Given the description of an element on the screen output the (x, y) to click on. 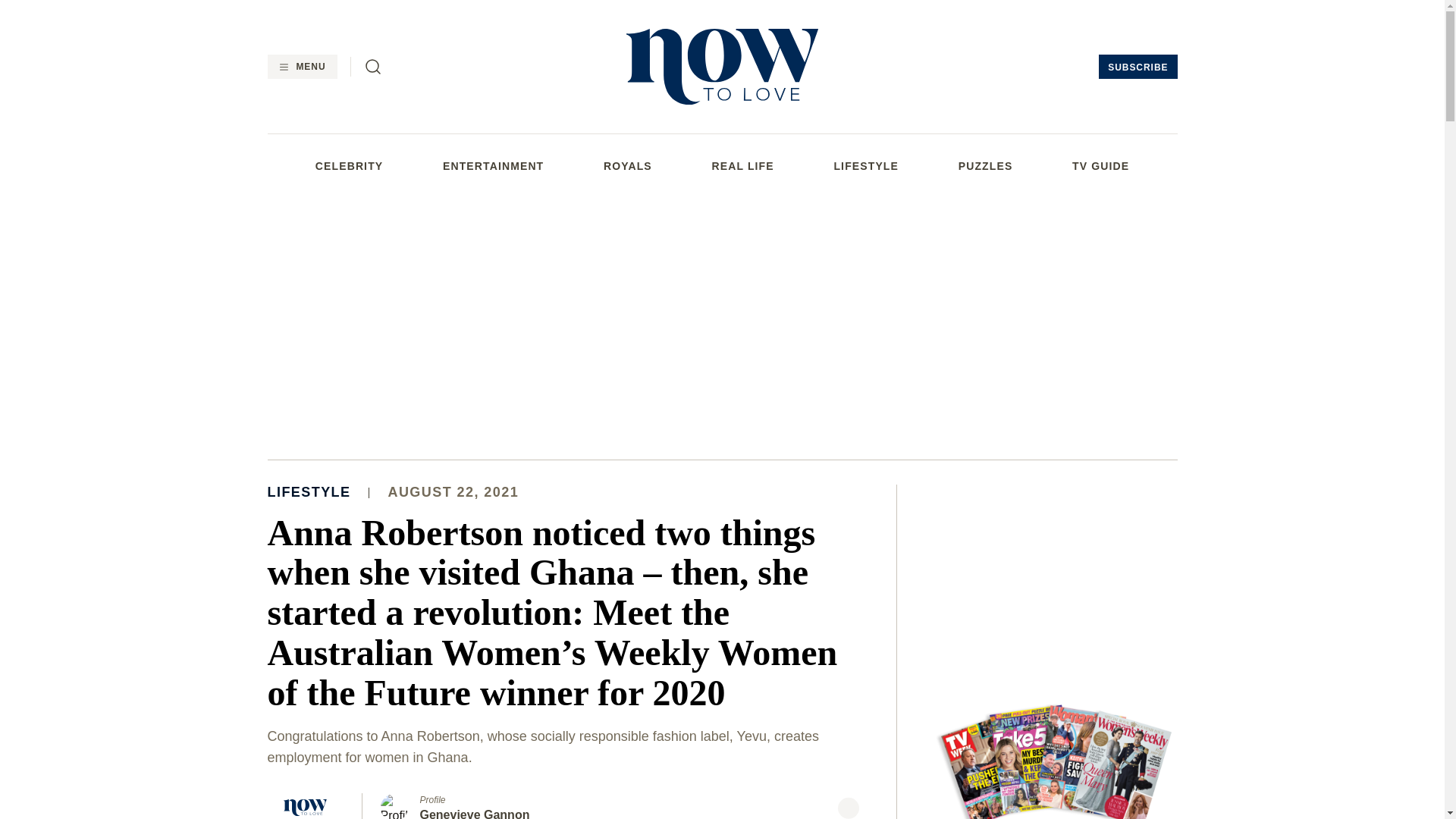
PUZZLES (985, 165)
REAL LIFE (742, 165)
LIFESTYLE (865, 165)
SUBSCRIBE (1137, 66)
ENTERTAINMENT (492, 165)
MENU (301, 66)
ROYALS (628, 165)
CELEBRITY (348, 165)
TV GUIDE (1100, 165)
